Given the description of an element on the screen output the (x, y) to click on. 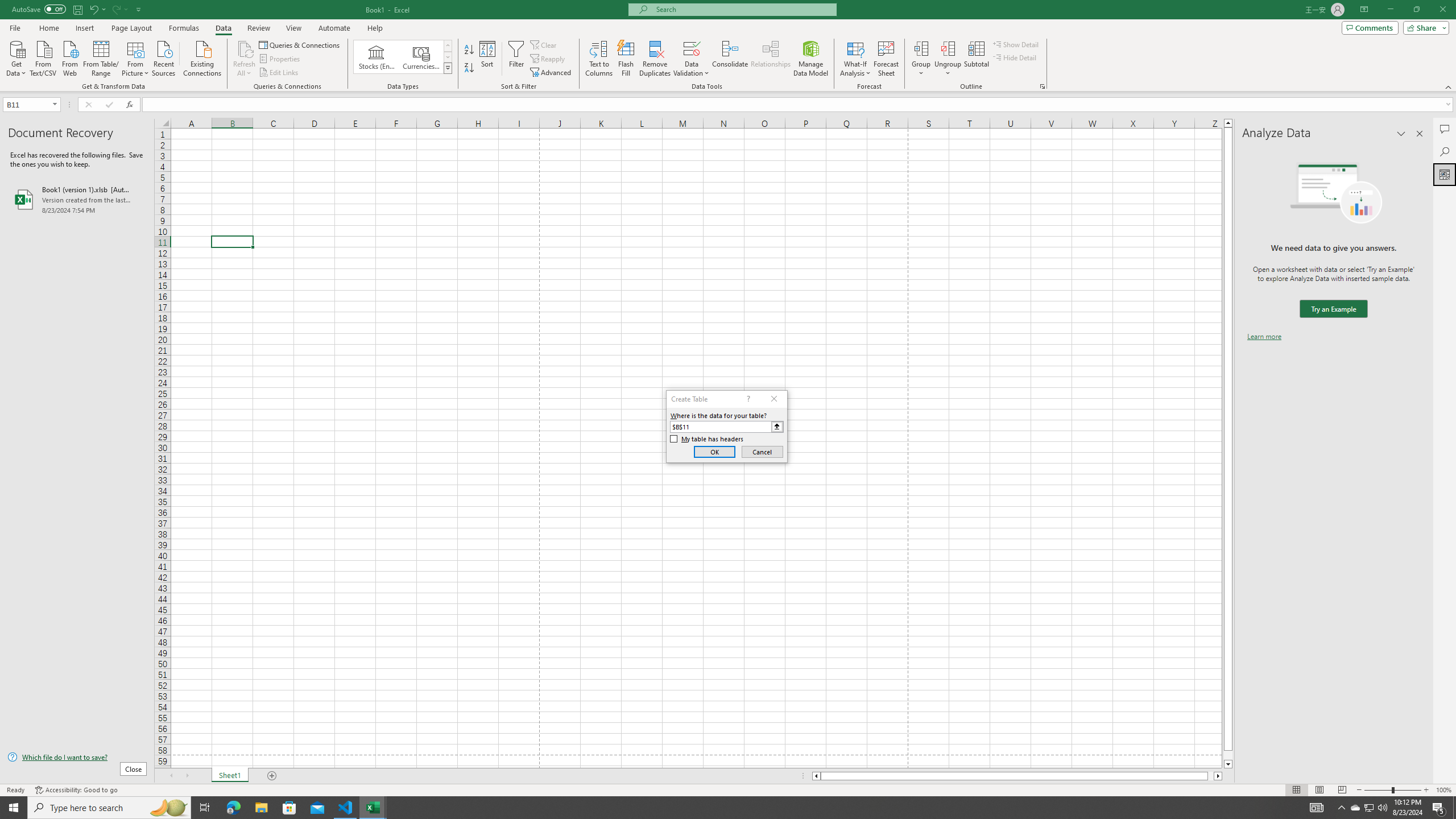
Row Down (448, 56)
Close (1442, 9)
Currencies (English) (420, 56)
AutomationID: ConvertToLinkedEntity (403, 56)
Class: NetUIImage (447, 68)
Learn more (1264, 336)
Comments (1444, 128)
Quick Access Toolbar (77, 9)
Review (258, 28)
Queries & Connections (300, 44)
Advanced... (551, 72)
Undo (92, 9)
Reapply (548, 58)
Collapse the Ribbon (1448, 86)
Refresh All (244, 58)
